Given the description of an element on the screen output the (x, y) to click on. 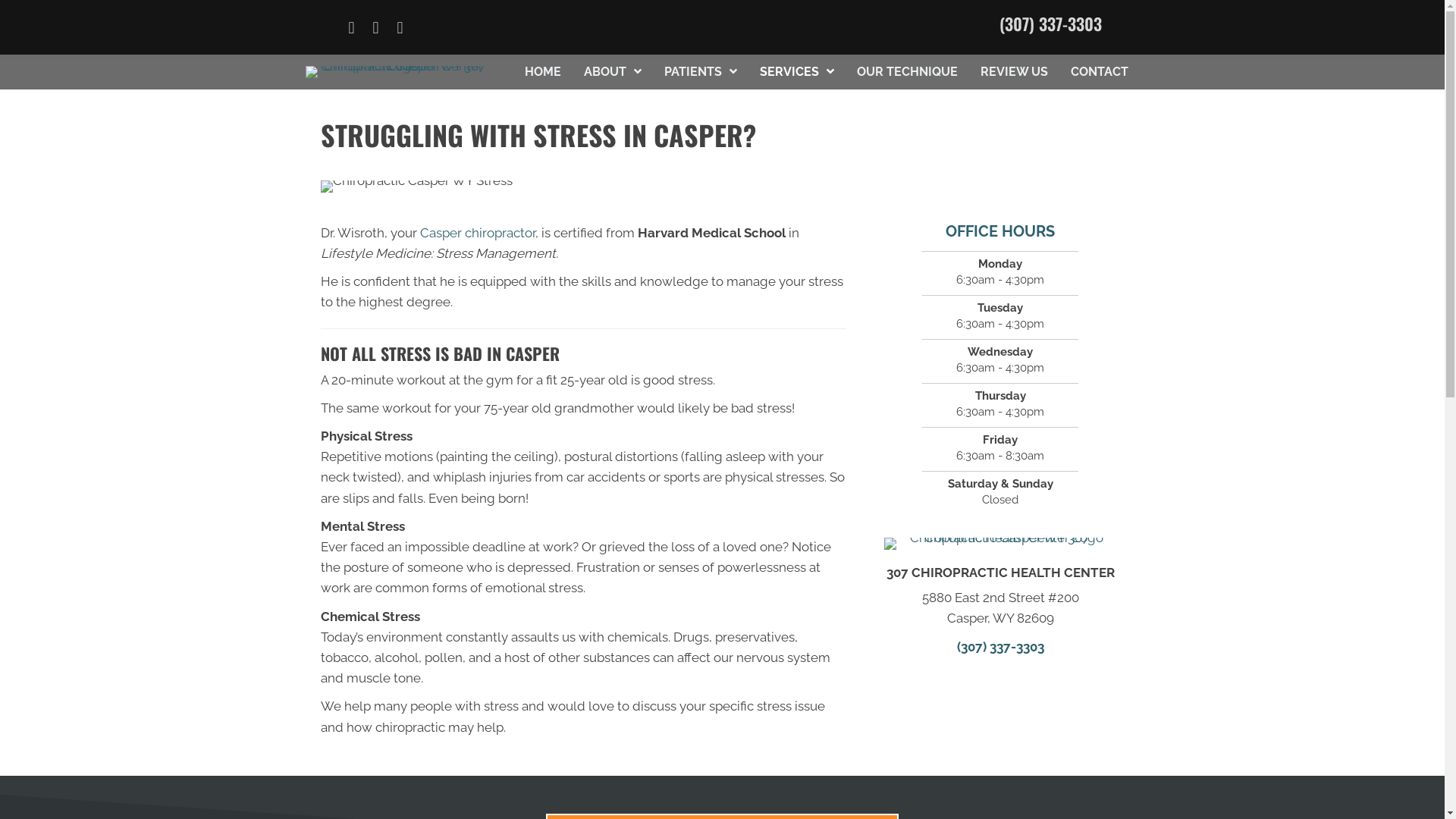
OUR TECHNIQUE Element type: text (907, 71)
Chiropractic Casper WY 307 Chiropractic Health Center Logo Element type: hover (1000, 543)
PATIENTS Element type: text (700, 71)
HOME Element type: text (542, 71)
SERVICES Element type: text (796, 71)
REVIEW US Element type: text (1013, 71)
CONTACT Element type: text (1099, 71)
Chiropractic Casper WY 307 Chiropractic Health Center Logo Element type: hover (403, 21)
Chiropractic Casper WY Stress Element type: hover (415, 186)
(307) 337-3303 Element type: text (1000, 646)
NEW PATIENT SPECIAL OFFER Element type: text (1030, 20)
Casper chiropractor Element type: text (477, 232)
ABOUT Element type: text (612, 71)
Chiropractic Casper WY 307 Chiropractic Health Center Logo Element type: hover (396, 71)
(307) 337-3303 Element type: text (1050, 22)
